Given the description of an element on the screen output the (x, y) to click on. 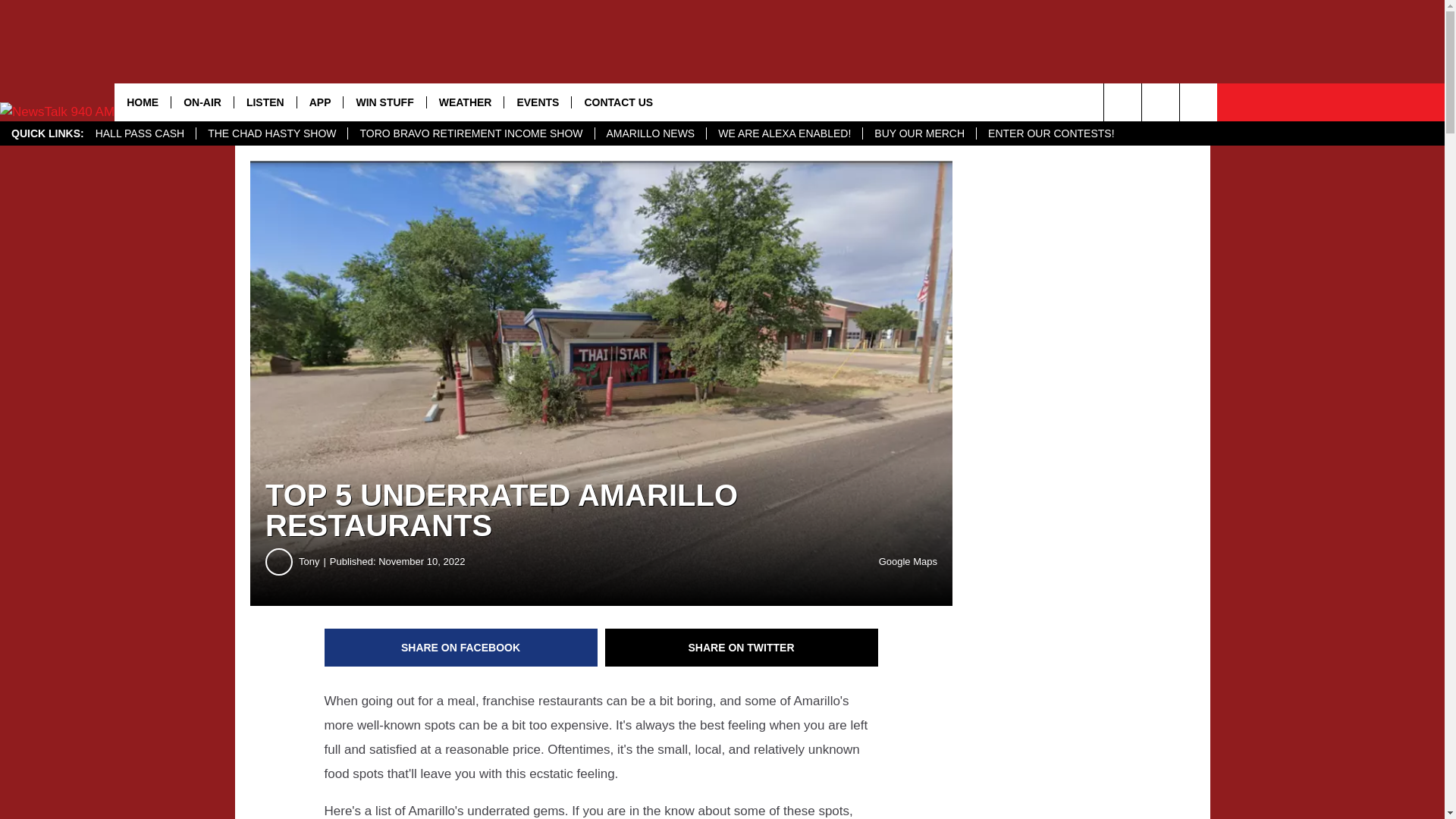
THE CHAD HASTY SHOW (271, 133)
TORO BRAVO RETIREMENT INCOME SHOW (470, 133)
WEATHER (464, 102)
HOME (142, 102)
WE ARE ALEXA ENABLED! (783, 133)
ENTER OUR CONTESTS! (1050, 133)
BUY OUR MERCH (918, 133)
LISTEN (264, 102)
HALL PASS CASH (140, 133)
WIN STUFF (383, 102)
